Given the description of an element on the screen output the (x, y) to click on. 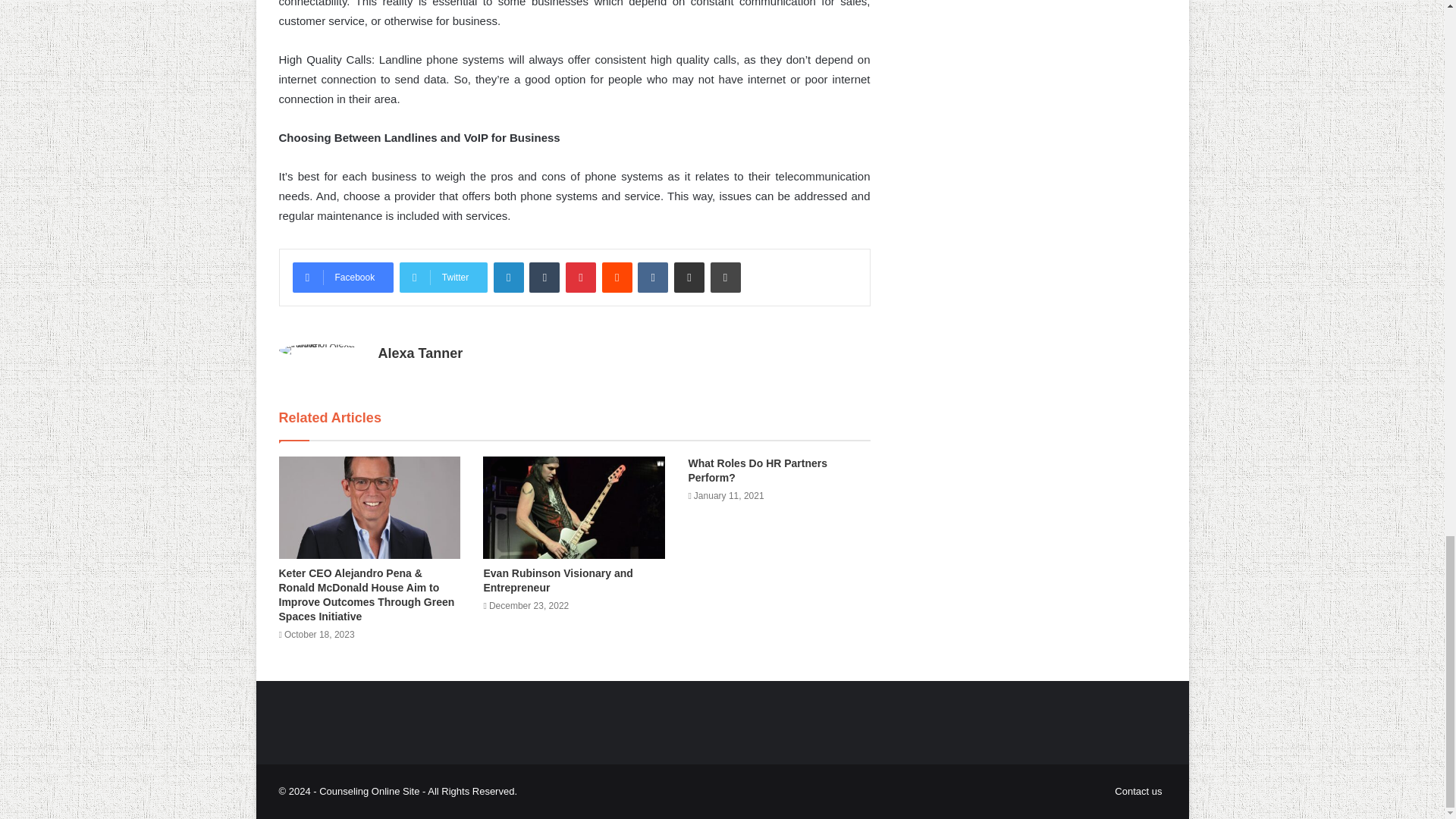
Pinterest (580, 277)
VKontakte (652, 277)
Pinterest (580, 277)
Twitter (442, 277)
VKontakte (652, 277)
Share via Email (689, 277)
Reddit (616, 277)
LinkedIn (508, 277)
Tumblr (544, 277)
Twitter (442, 277)
